Given the description of an element on the screen output the (x, y) to click on. 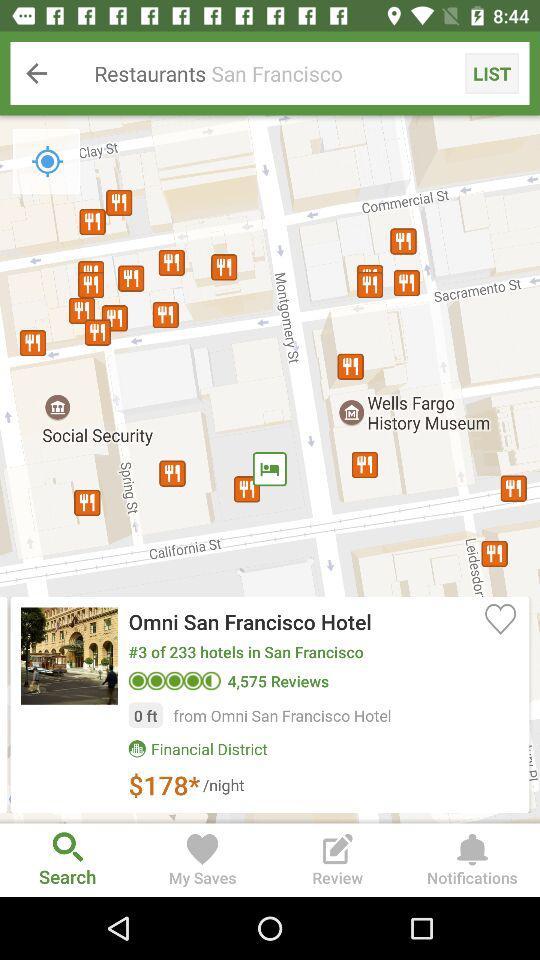
launch item below the restaurants san francisco icon (500, 618)
